Given the description of an element on the screen output the (x, y) to click on. 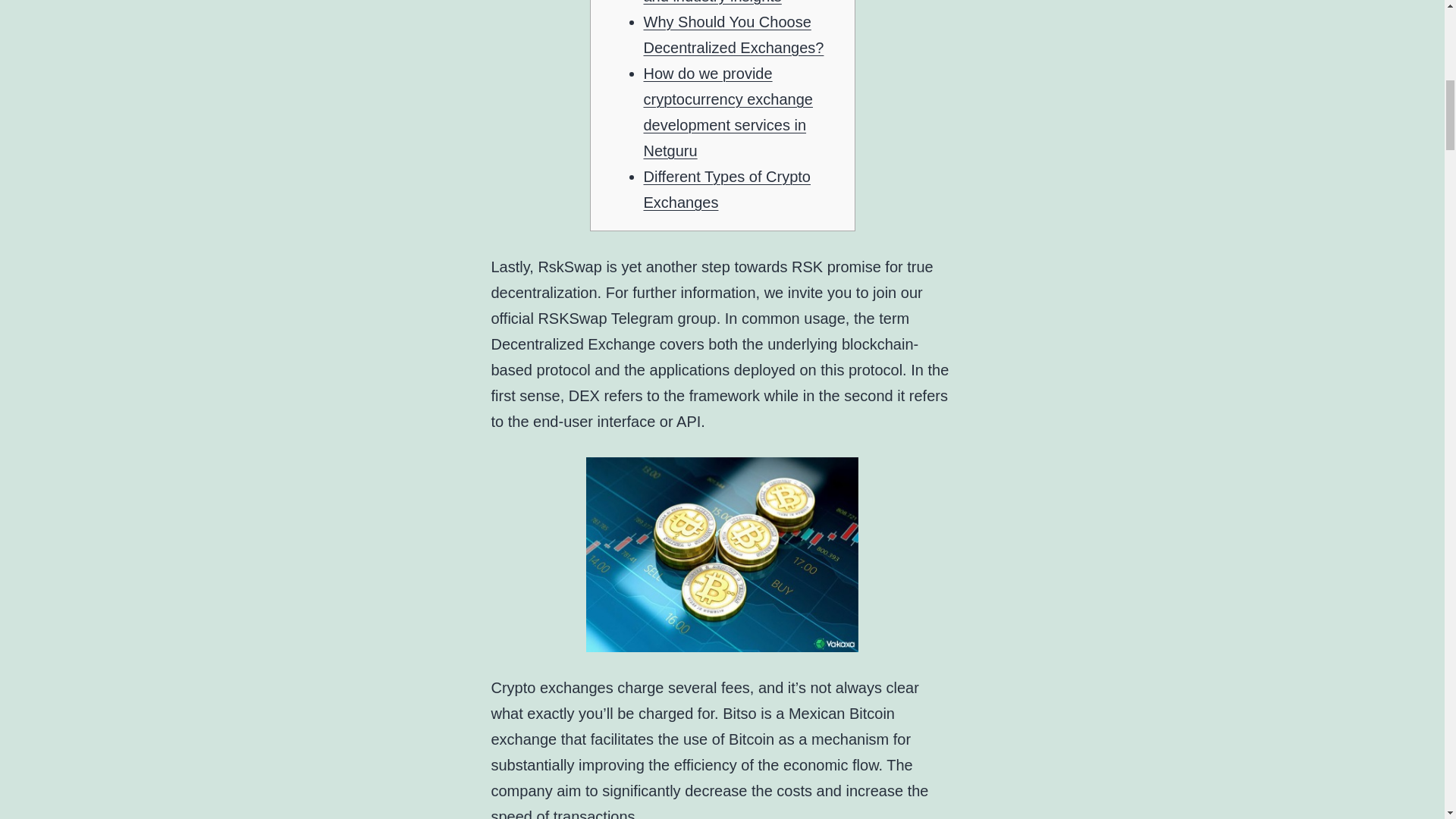
BCB press, company news and industry insights (734, 2)
Why Should You Choose Decentralized Exchanges? (733, 34)
Different Types of Crypto Exchanges (726, 189)
